Given the description of an element on the screen output the (x, y) to click on. 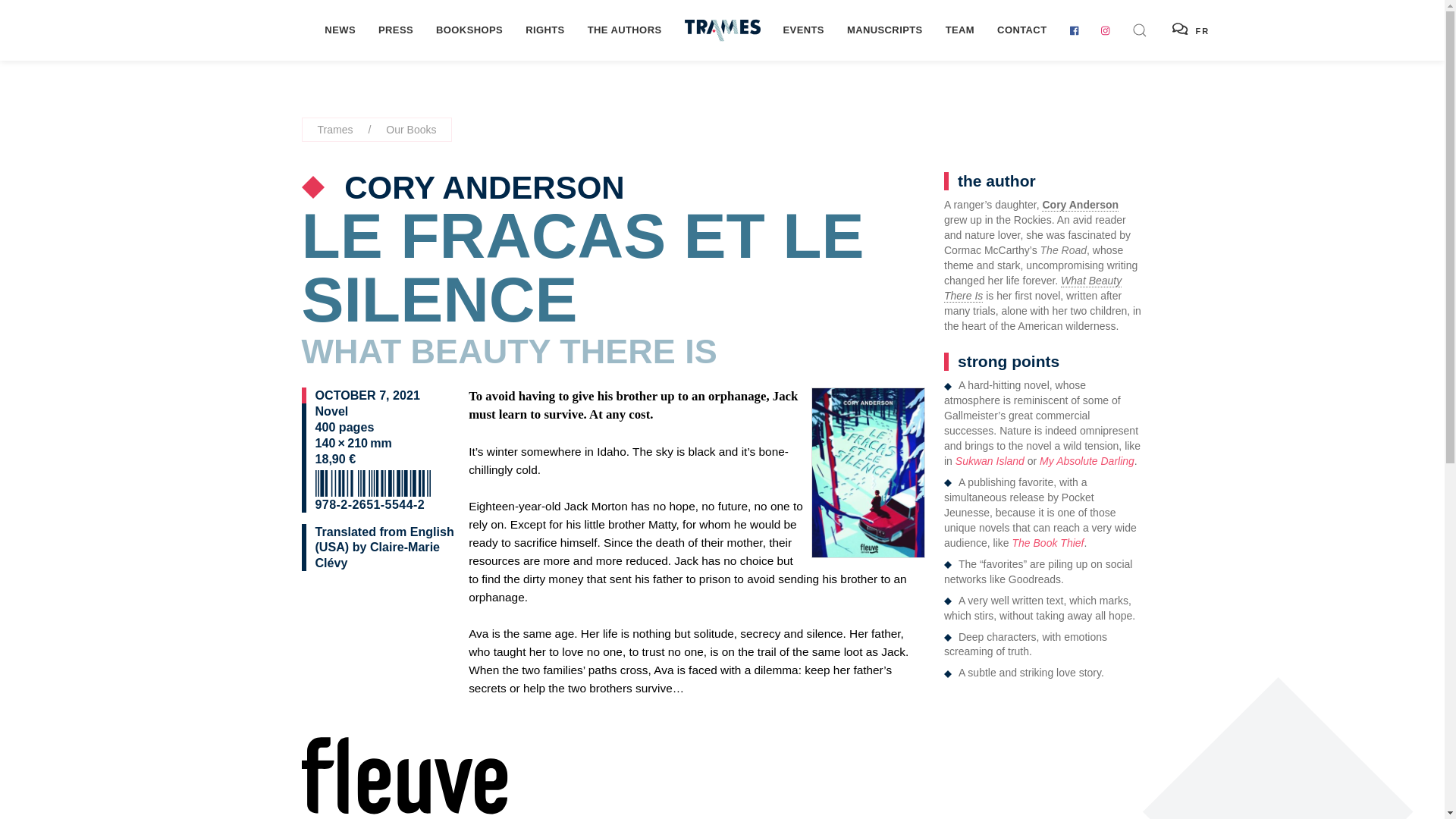
Trames (334, 129)
What Beauty There Is (1032, 288)
PRESS (395, 30)
THE AUTHORS (624, 30)
CONTACT (1021, 30)
TEAM (959, 30)
RIGHTS (544, 30)
FR (1190, 30)
NEWS (339, 30)
Cory Anderson (1080, 205)
CORY ANDERSON (479, 187)
EVENTS (803, 30)
BOOKSHOPS (469, 30)
Our Books (410, 129)
MANUSCRIPTS (884, 30)
